Given the description of an element on the screen output the (x, y) to click on. 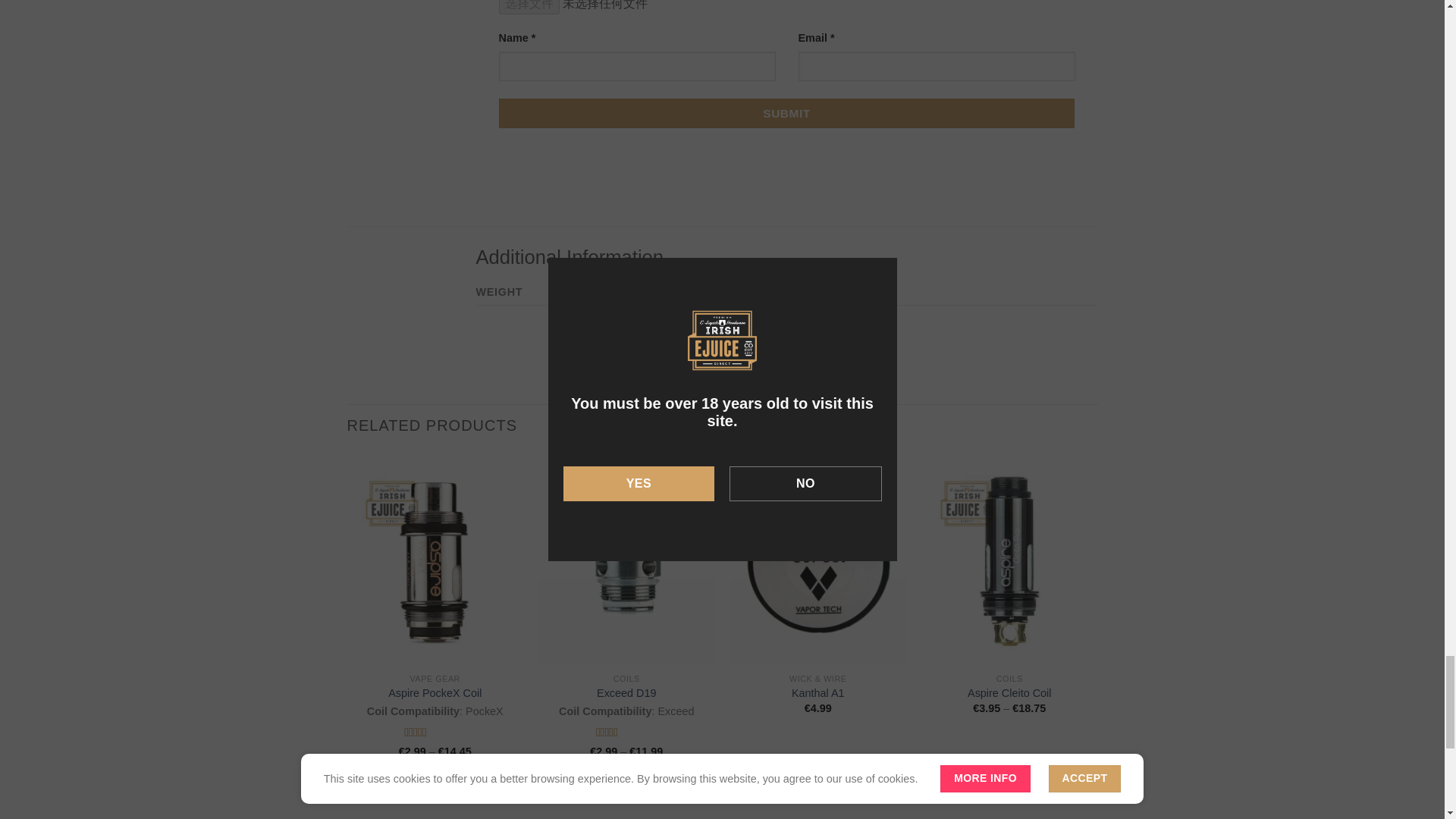
Submit (787, 112)
